Given the description of an element on the screen output the (x, y) to click on. 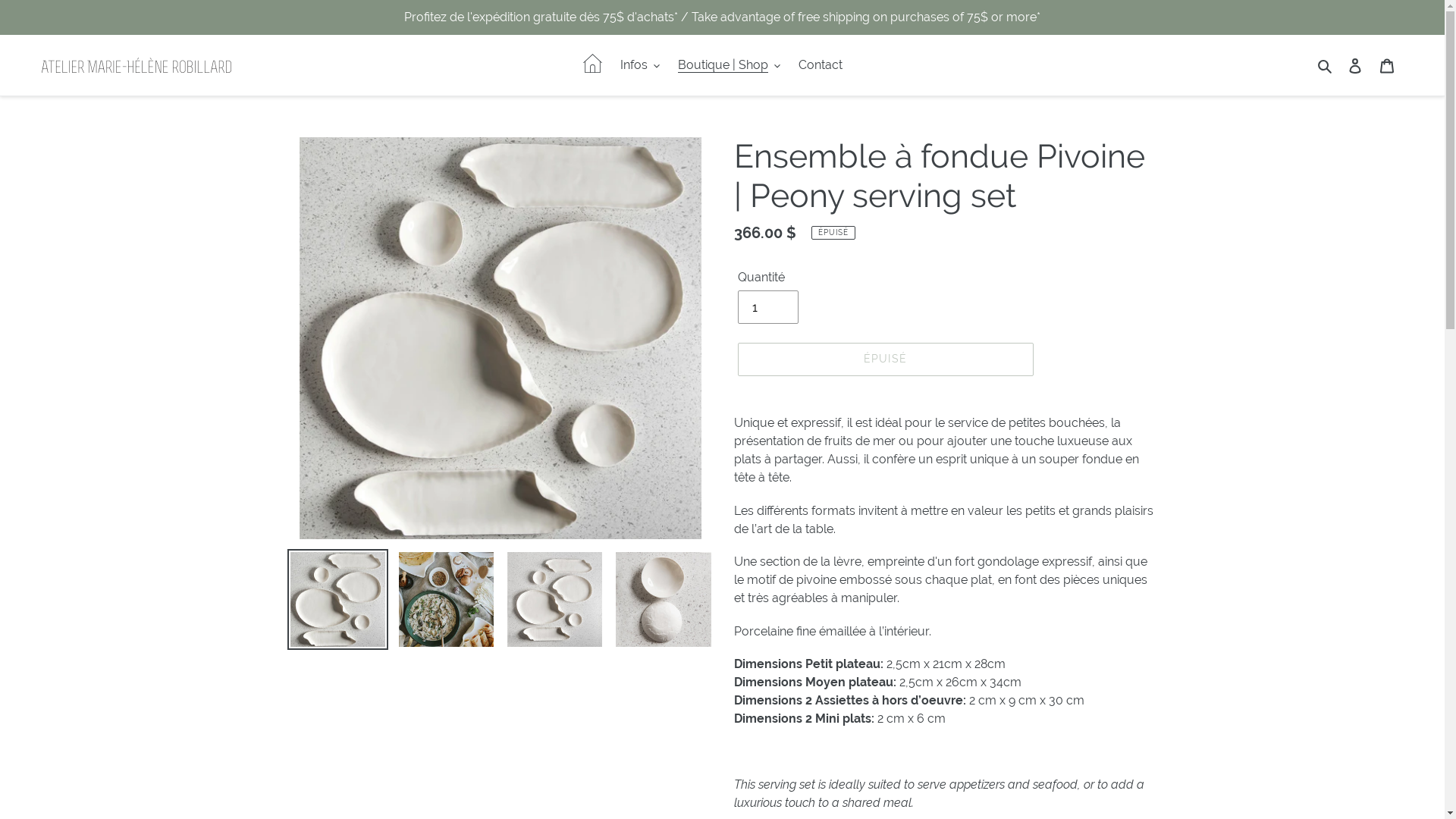
Contact Element type: text (820, 64)
Se connecter Element type: text (1355, 64)
Panier Element type: text (1386, 64)
Infos Element type: text (639, 64)
Rechercher Element type: text (1325, 65)
Boutique | Shop Element type: text (728, 64)
